Given the description of an element on the screen output the (x, y) to click on. 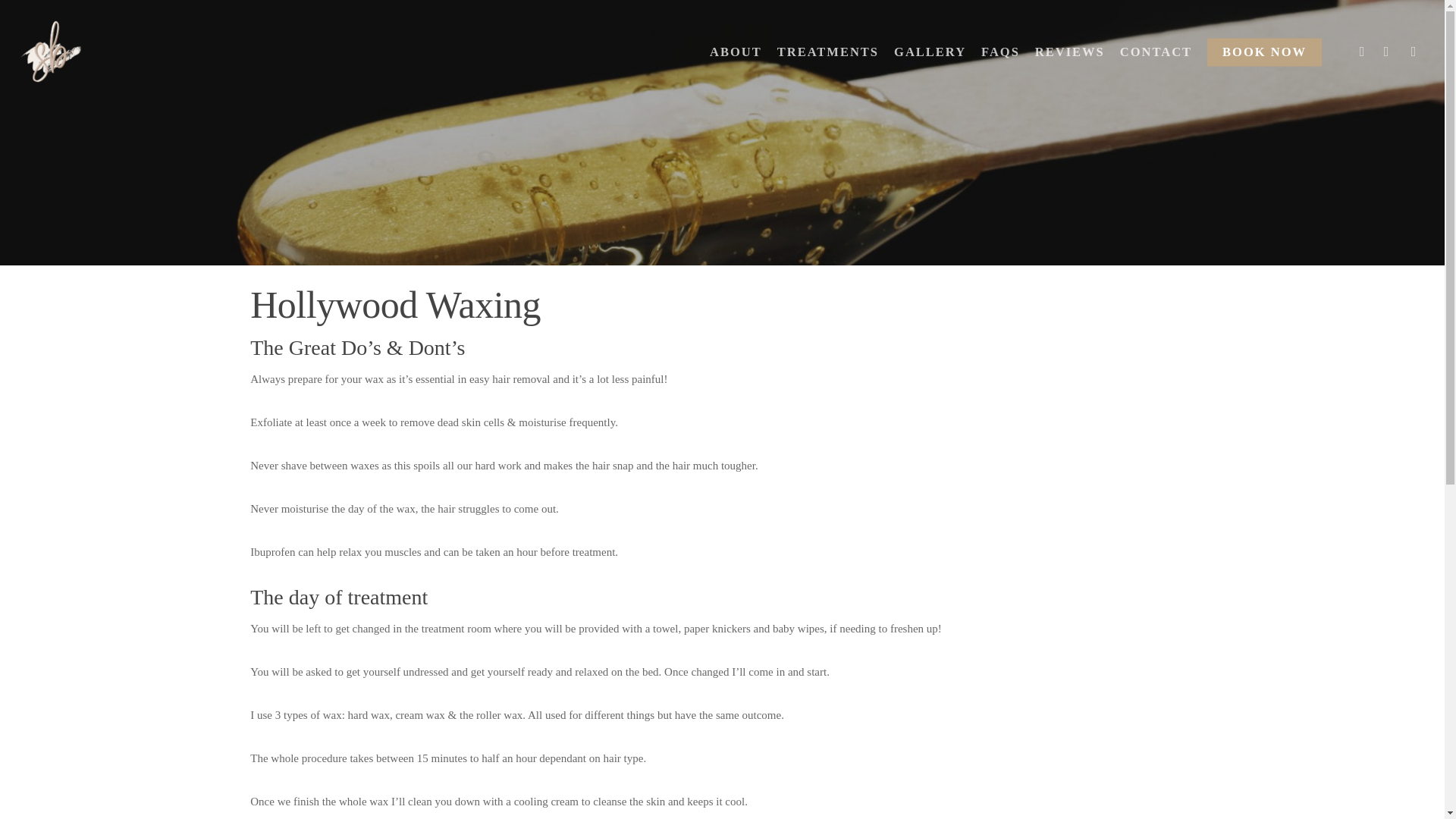
BOOK NOW (1264, 51)
EMAIL (1414, 52)
TREATMENTS (828, 51)
INSTAGRAM (1386, 52)
GALLERY (930, 51)
facebook (695, 709)
ABOUT (735, 51)
UA Media (861, 757)
FACEBOOK (1362, 52)
CONTACT (1155, 51)
